Given the description of an element on the screen output the (x, y) to click on. 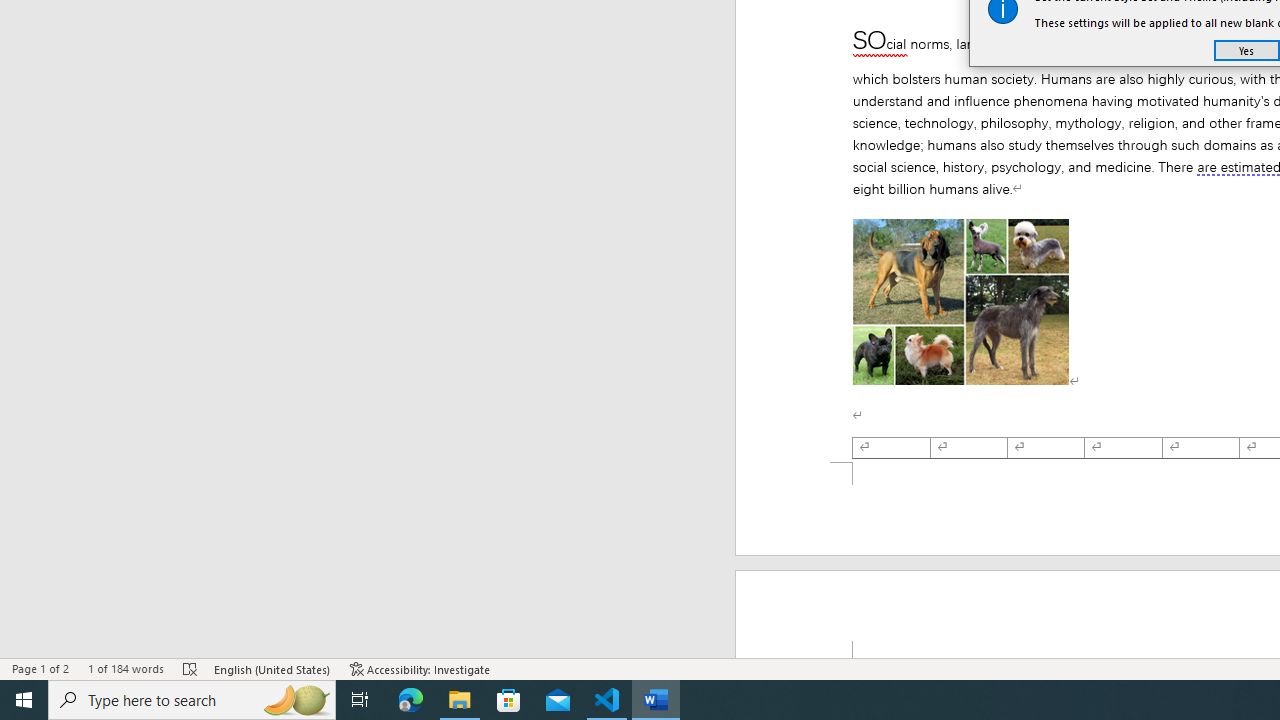
Word - 1 running window (656, 699)
Page Number Page 1 of 2 (39, 668)
